Given the description of an element on the screen output the (x, y) to click on. 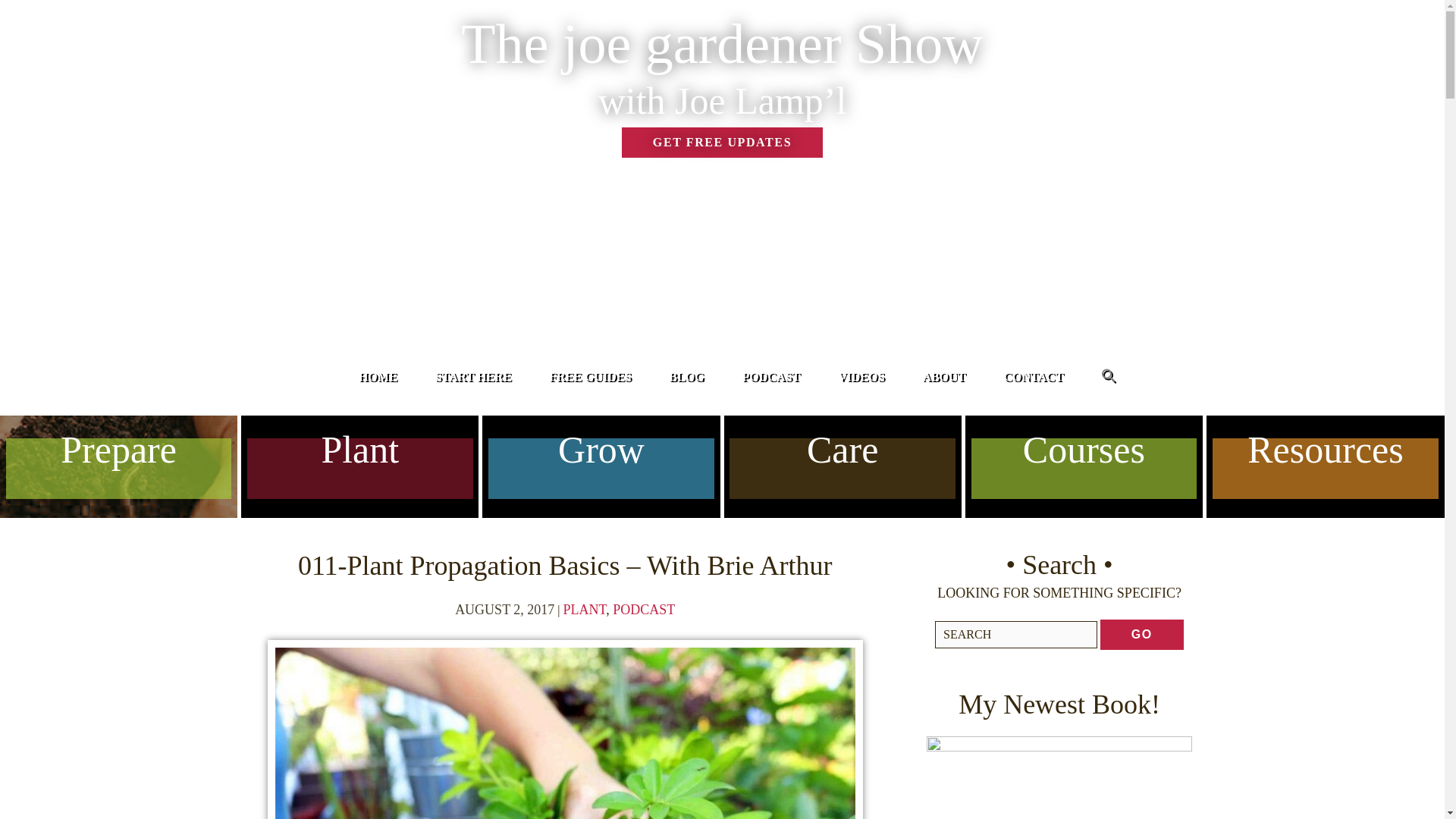
START HERE (473, 376)
VIDEOS (860, 376)
HOME (377, 376)
My Newest Book! (1059, 777)
ABOUT (943, 376)
PODCAST (643, 609)
FREE GUIDES (589, 376)
Prepare (118, 500)
CONTACT (1032, 376)
PLANT (585, 609)
BLOG (685, 376)
GET FREE UPDATES (721, 142)
PODCAST (770, 376)
